Given the description of an element on the screen output the (x, y) to click on. 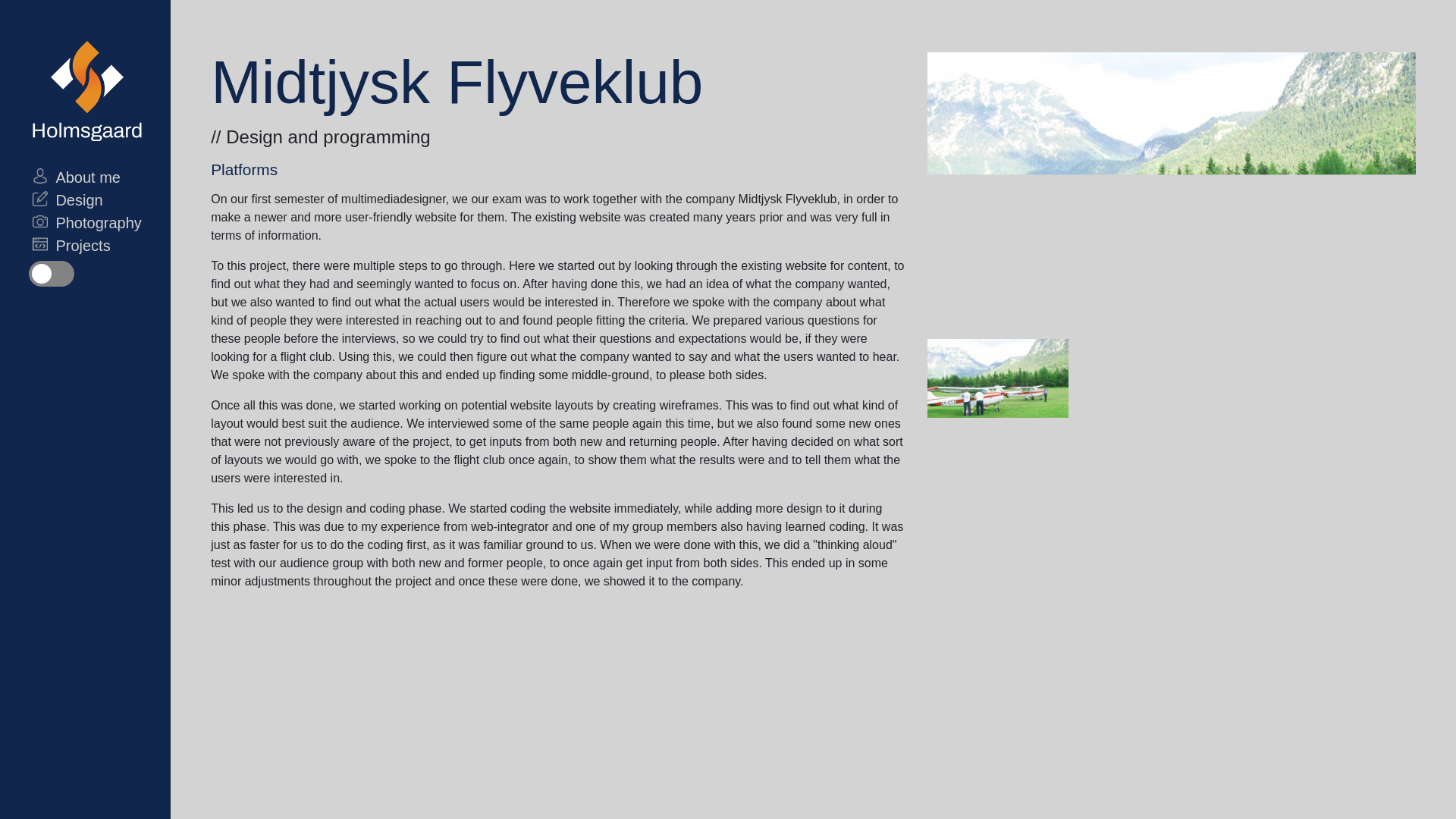
Design (87, 200)
Photography (87, 222)
Projects (87, 245)
About me (87, 177)
